Given the description of an element on the screen output the (x, y) to click on. 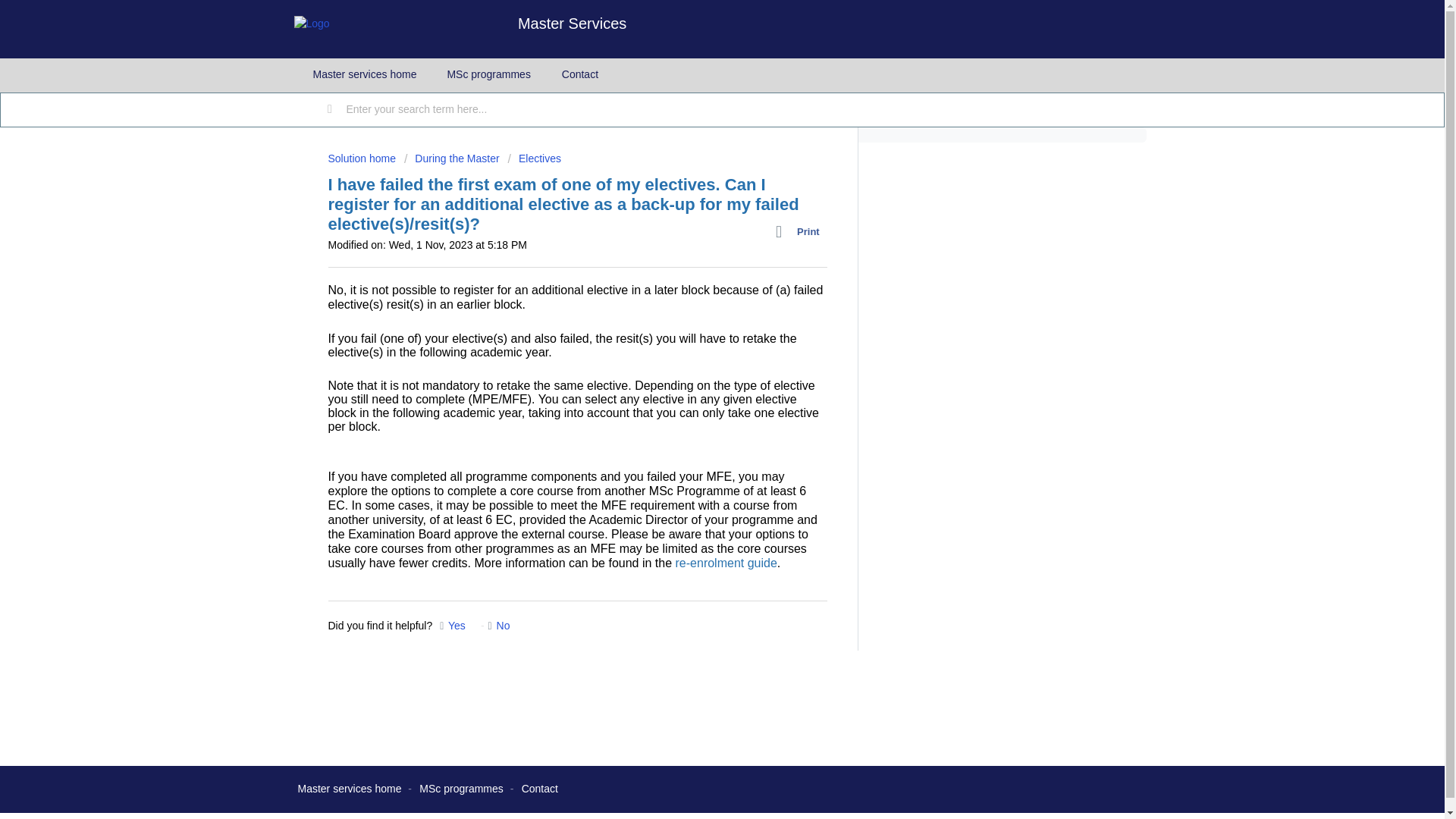
re-enrolment guide (726, 562)
Master services home (363, 74)
Contact (539, 788)
MSc programmes (487, 74)
Solution home (362, 158)
Print (801, 231)
Print this Article (801, 231)
Electives (534, 158)
Contact (580, 74)
During the Master (451, 158)
MSc programmes (460, 788)
Master services home (349, 788)
